Given the description of an element on the screen output the (x, y) to click on. 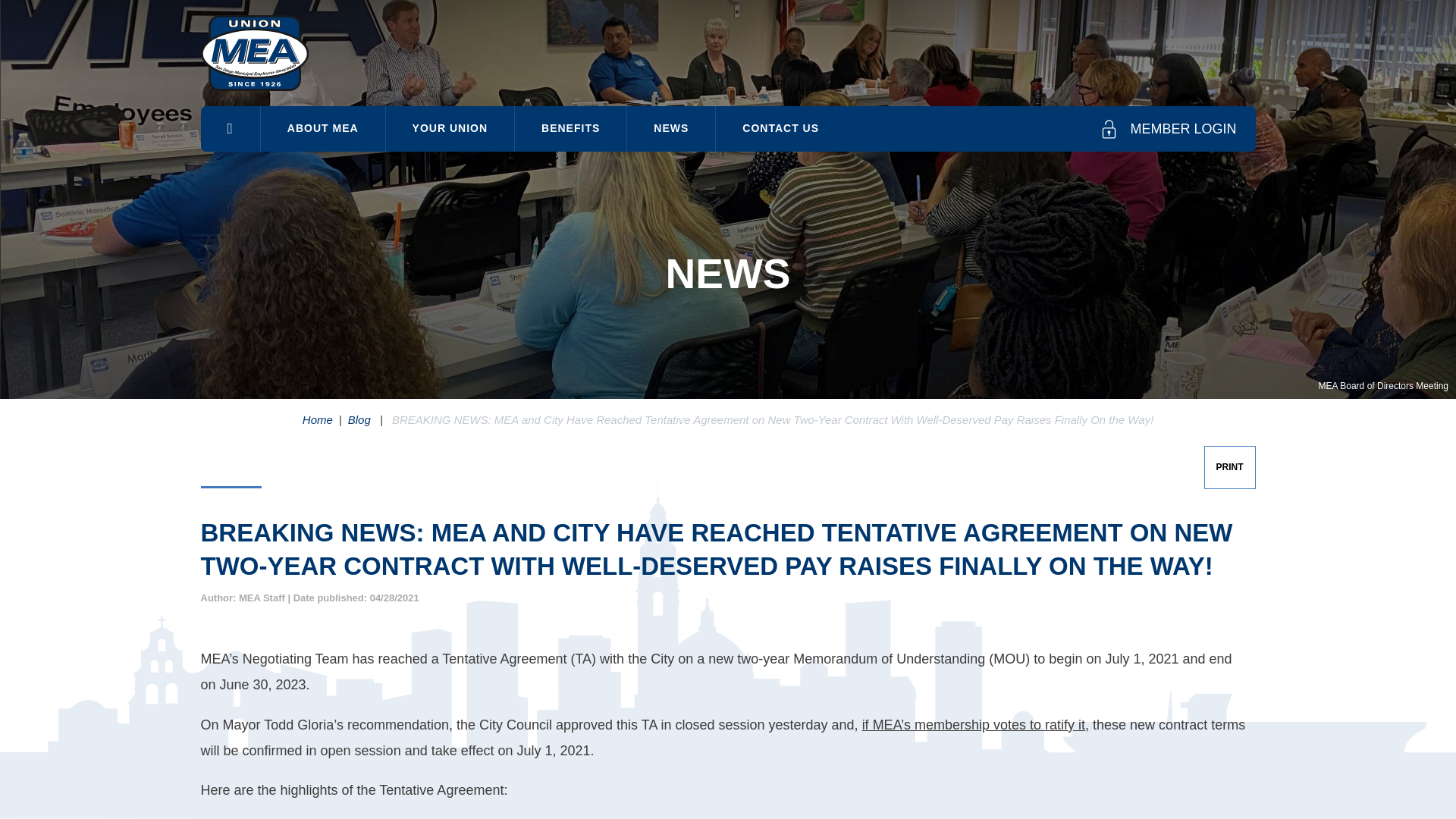
ABOUT MEA (322, 128)
CONTACT US (780, 128)
MEMBER LOGIN (1167, 128)
NEWS (670, 128)
YOUR UNION (449, 128)
PRINT (1229, 466)
BENEFITS (570, 128)
Blog (359, 419)
home (229, 128)
Home (317, 419)
